Given the description of an element on the screen output the (x, y) to click on. 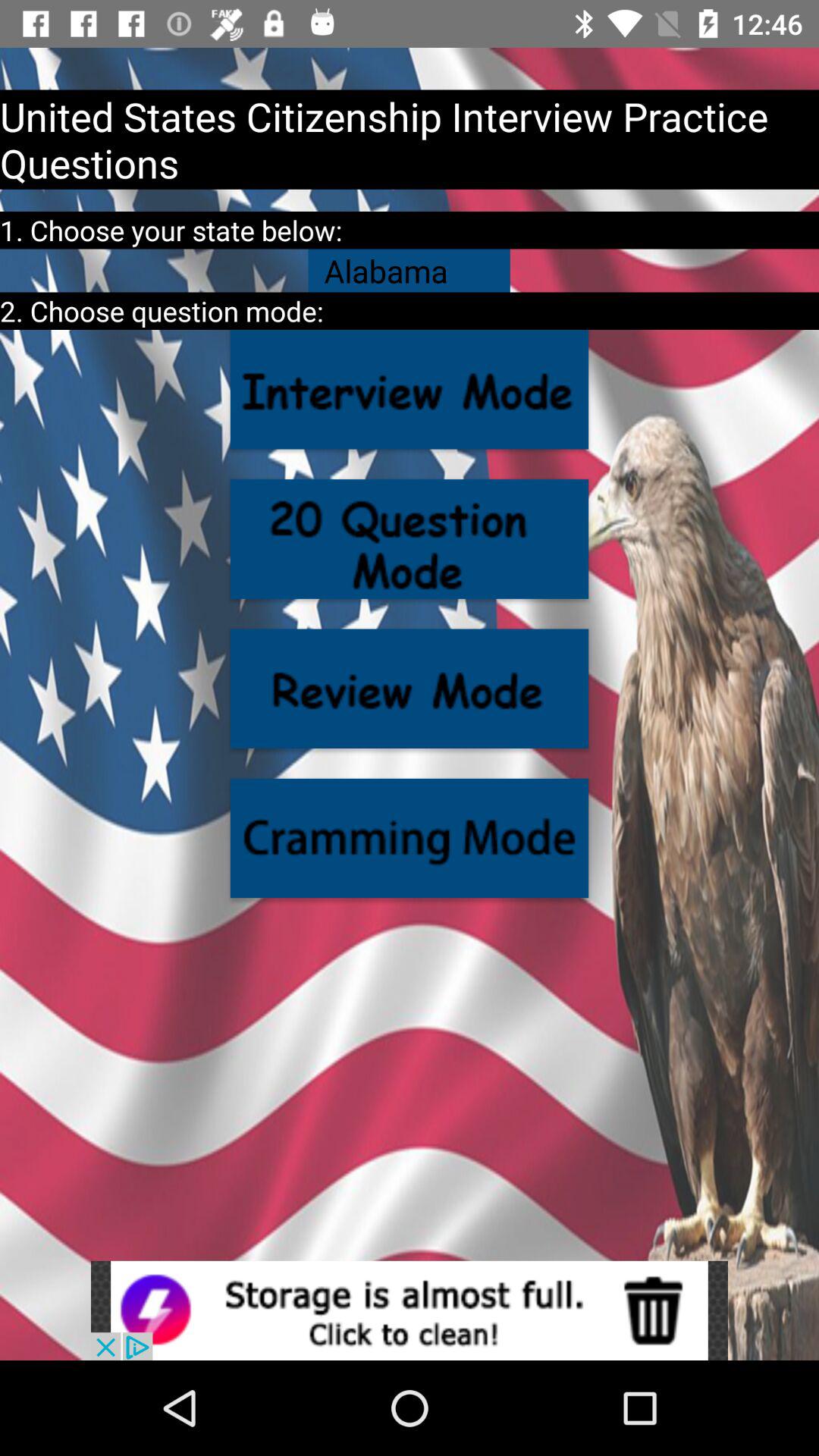
mode selection (409, 838)
